Given the description of an element on the screen output the (x, y) to click on. 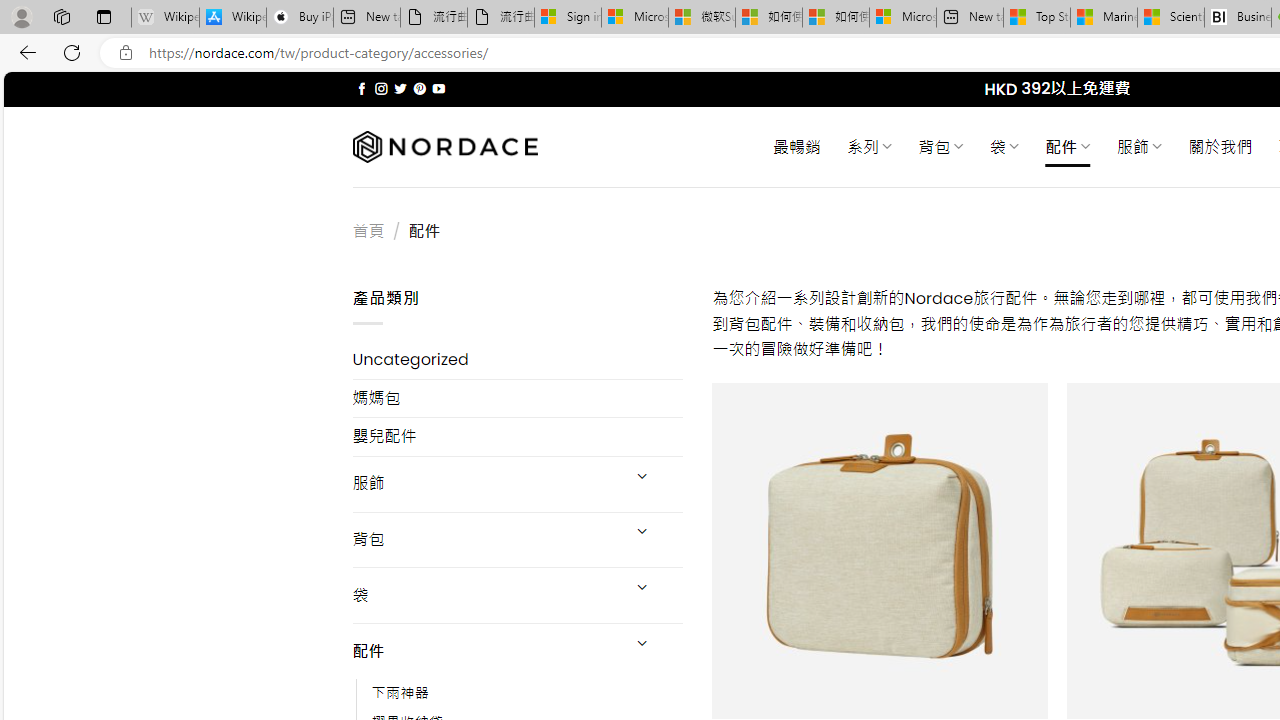
Nordace (444, 147)
Top Stories - MSN (1036, 17)
